Given the description of an element on the screen output the (x, y) to click on. 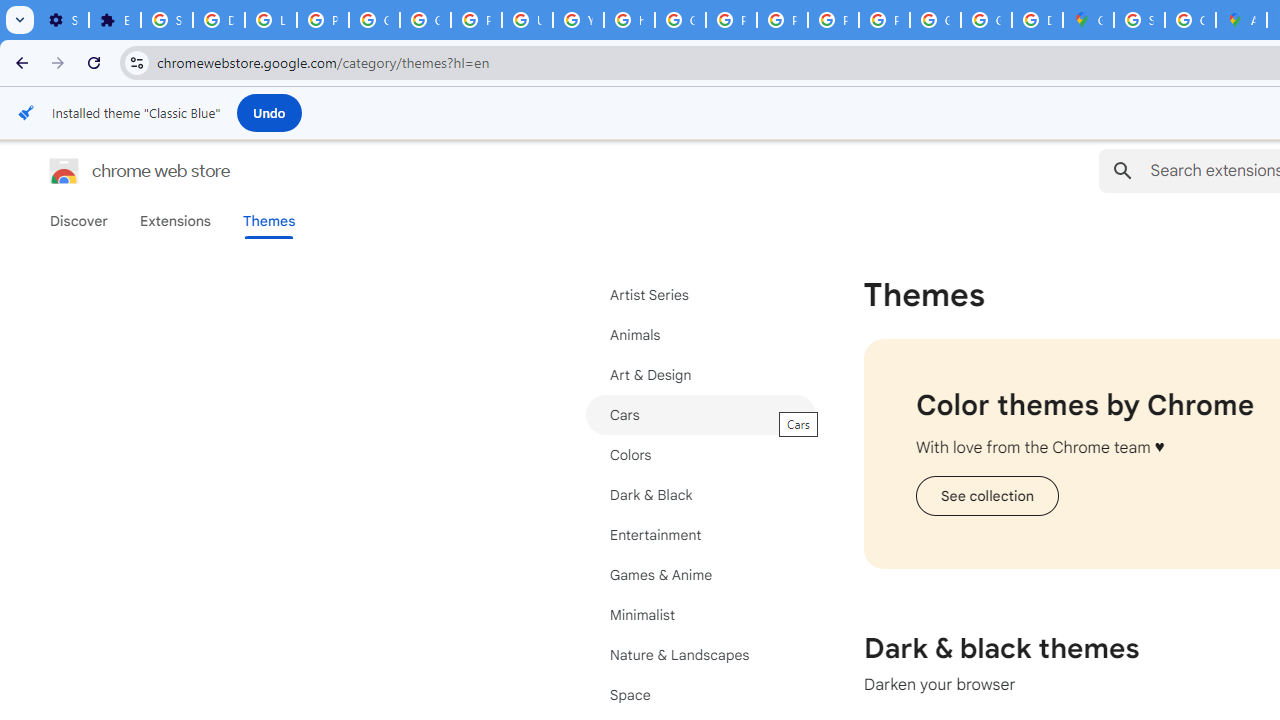
Space (700, 694)
Extensions (114, 20)
Dark & Black (700, 494)
Learn how to find your photos - Google Photos Help (270, 20)
Google Account Help (424, 20)
Delete photos & videos - Computer - Google Photos Help (218, 20)
Settings - On startup (63, 20)
